Given the description of an element on the screen output the (x, y) to click on. 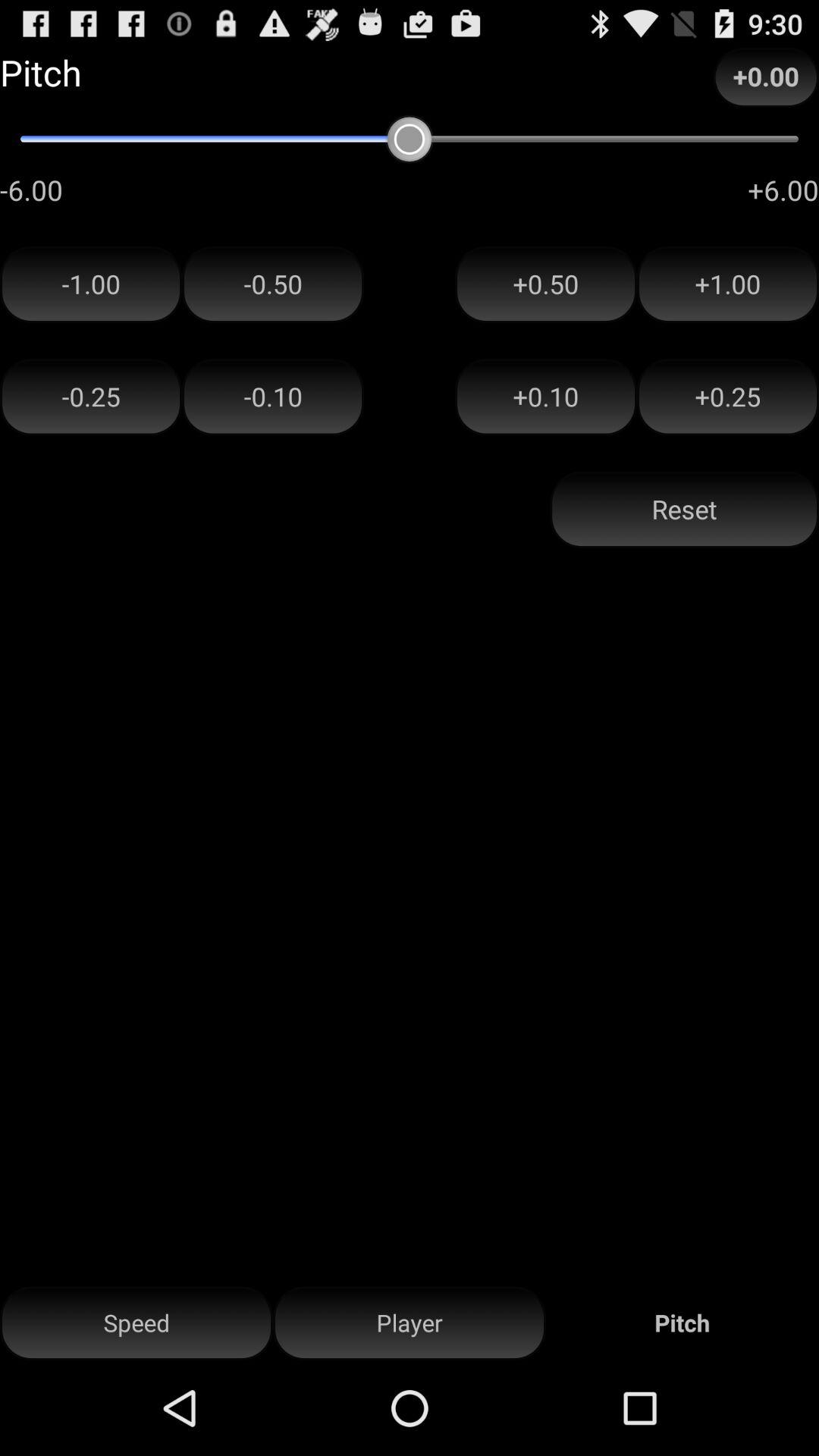
launch button at the bottom left corner (136, 1323)
